Given the description of an element on the screen output the (x, y) to click on. 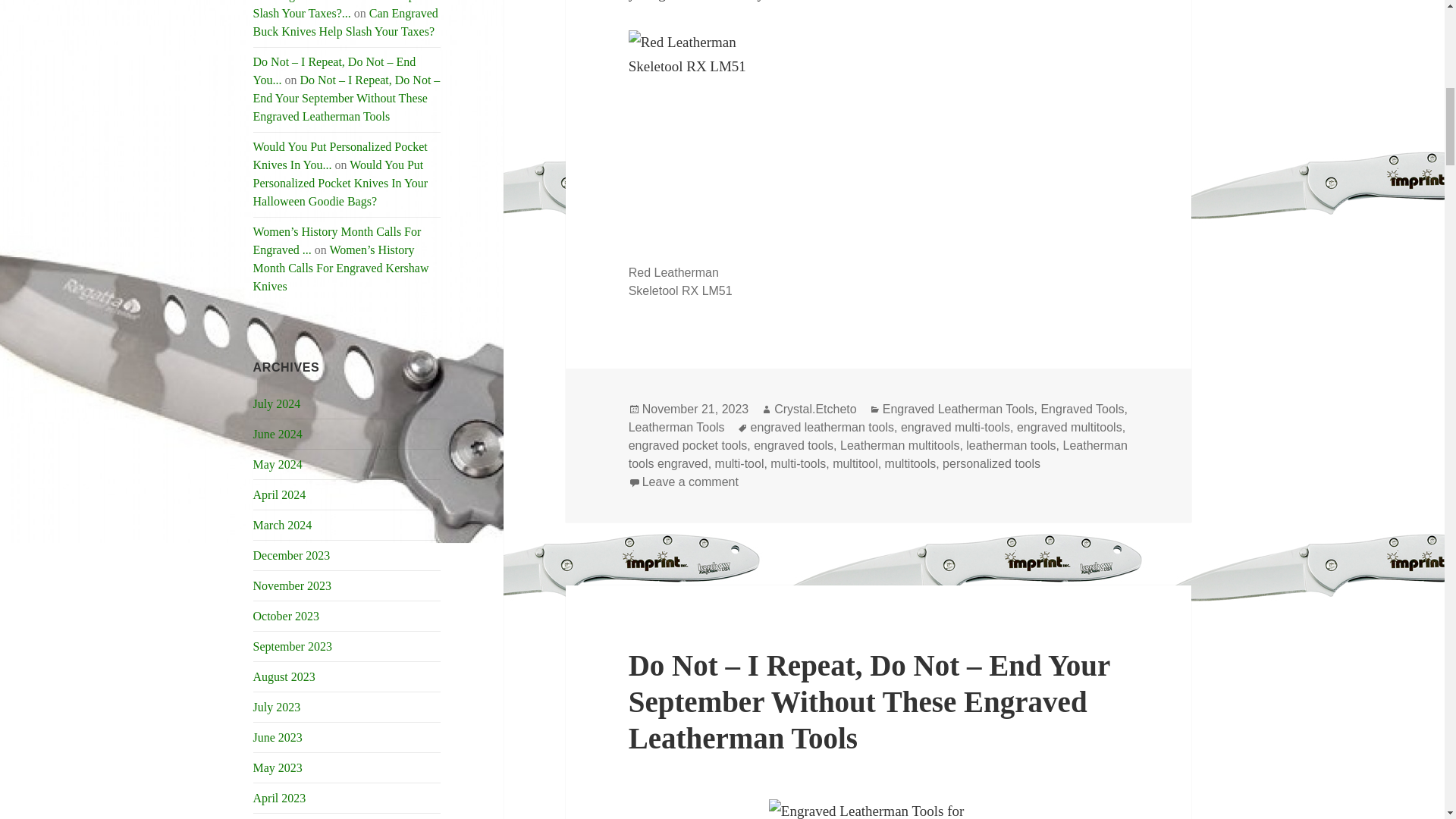
July 2024 (277, 403)
Can Engraved Buck Knives Help Slash Your Taxes?... (333, 9)
July 2023 (277, 707)
March 2024 (283, 524)
Can Engraved Buck Knives Help Slash Your Taxes? (345, 21)
April 2023 (279, 797)
April 2024 (279, 494)
August 2023 (284, 676)
December 2023 (291, 554)
September 2023 (292, 645)
November 2023 (292, 585)
June 2023 (277, 737)
Would You Put Personalized Pocket Knives In You... (340, 155)
June 2024 (277, 433)
